Given the description of an element on the screen output the (x, y) to click on. 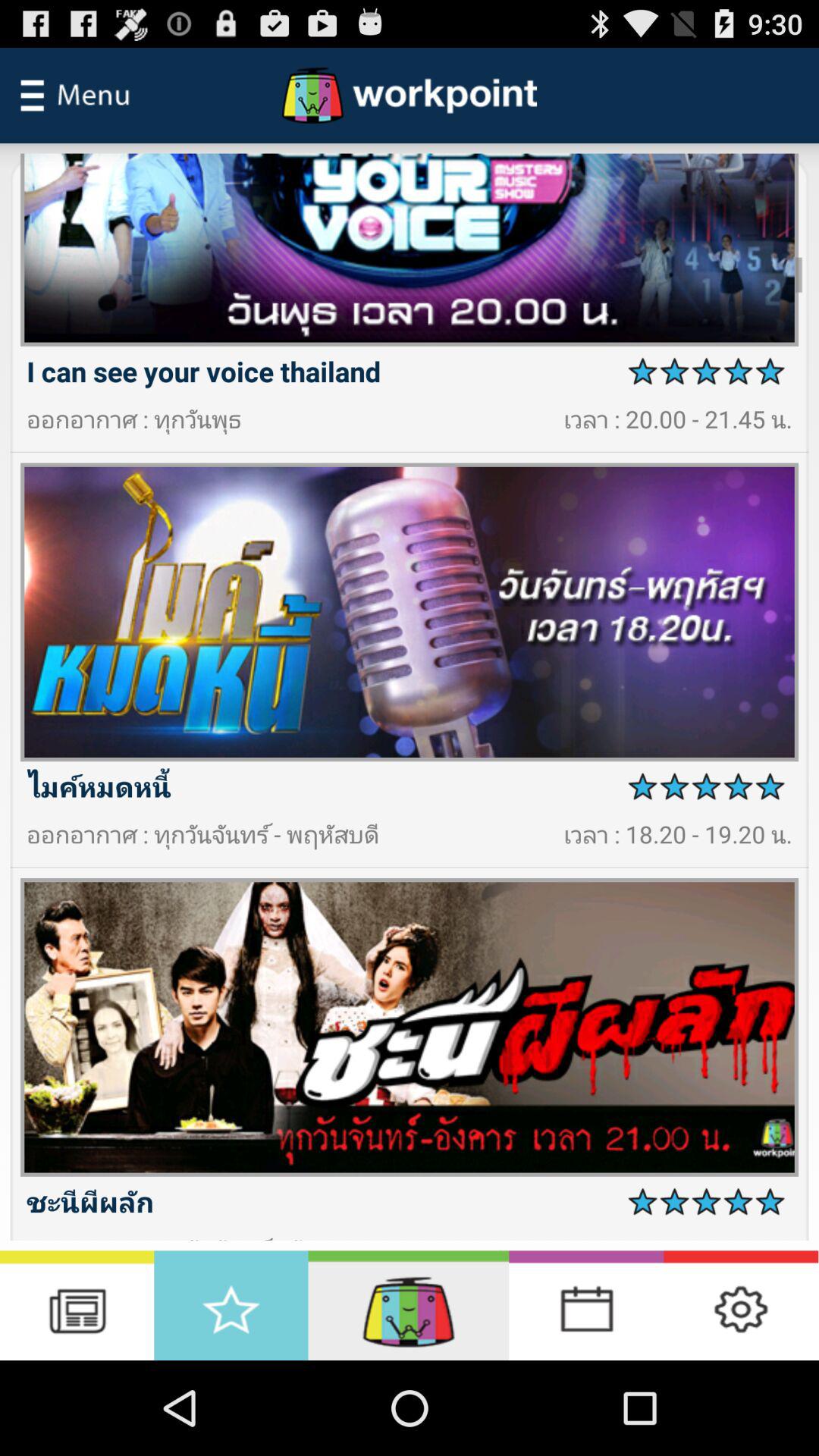
open live stream menu (408, 1305)
